Given the description of an element on the screen output the (x, y) to click on. 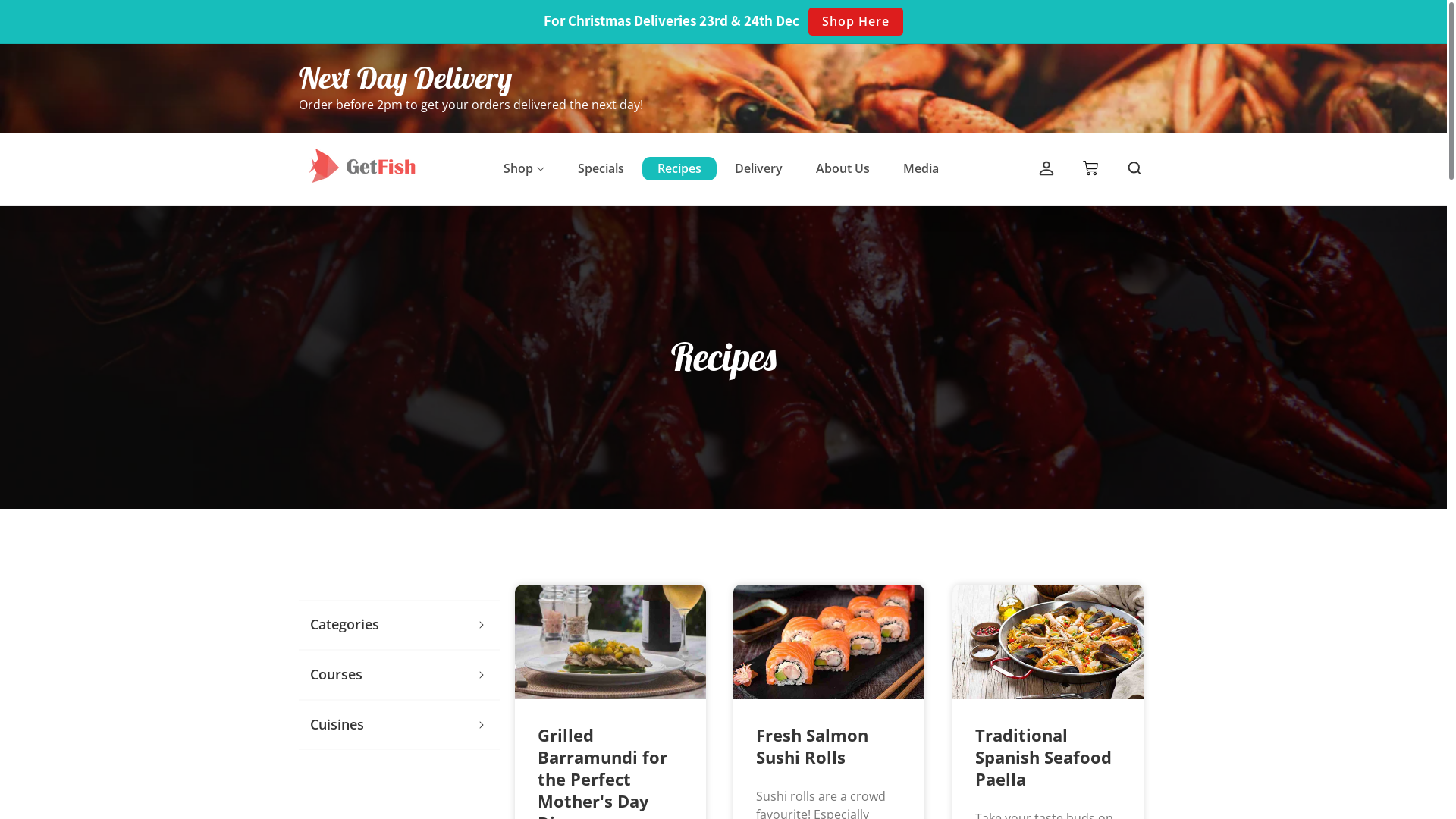
Media Element type: text (920, 168)
Traditional Spanish Seafood Paella Element type: text (1047, 757)
Specials Element type: text (600, 168)
About Us Element type: text (842, 168)
Shop Here Element type: text (855, 21)
Delivery Element type: text (758, 168)
My Account Element type: text (1046, 168)
Cart Element type: text (1090, 168)
Fresh Salmon Sushi Rolls Element type: text (828, 746)
Recipes Element type: text (679, 168)
